Given the description of an element on the screen output the (x, y) to click on. 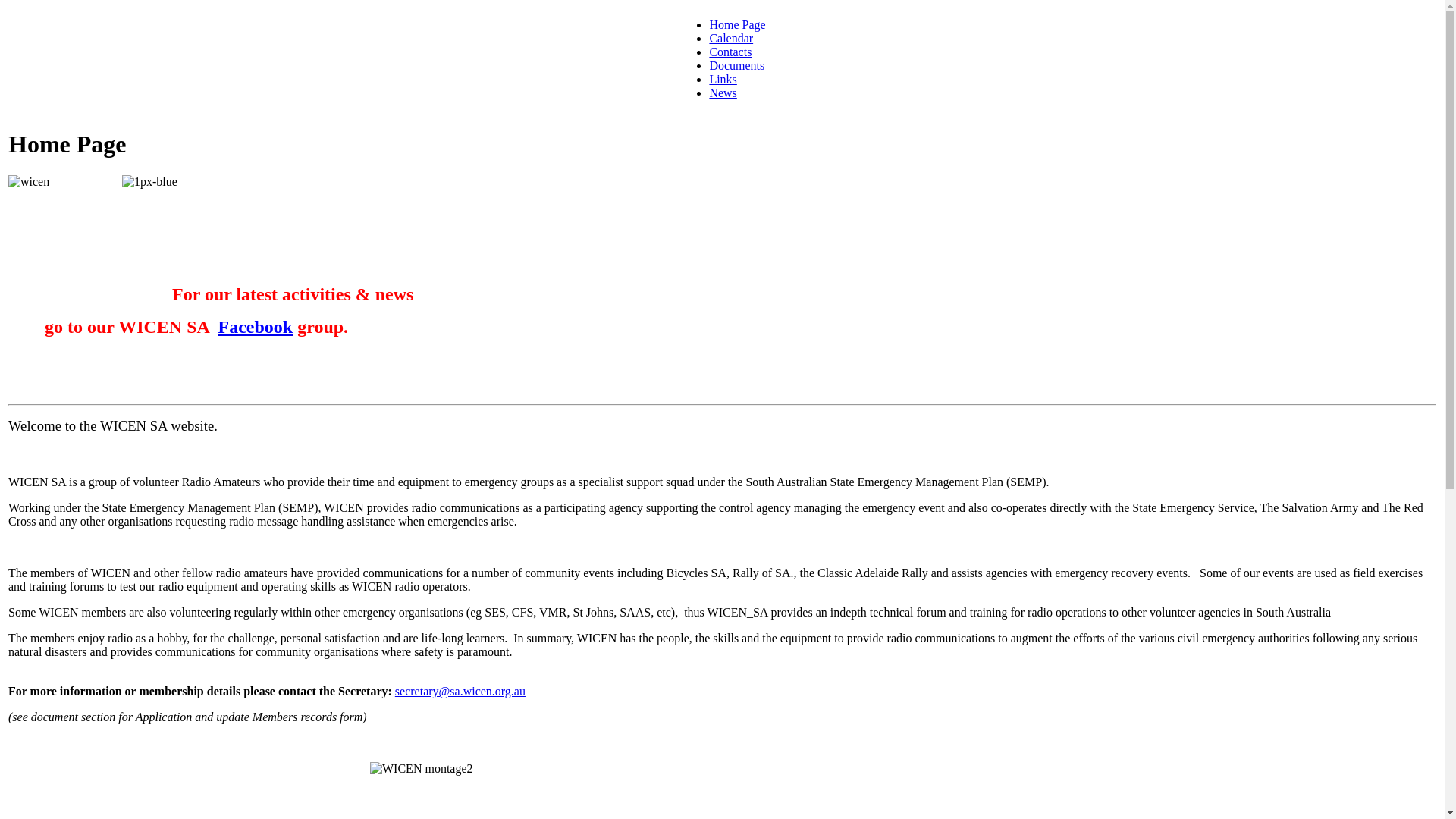
News Element type: text (722, 92)
Calendar Element type: text (731, 37)
Contacts Element type: text (730, 51)
Documents Element type: text (736, 65)
Home Page Element type: text (737, 24)
secretary@sa.wicen.org.au Element type: text (460, 690)
Facebook Element type: text (255, 326)
Links Element type: text (722, 78)
